Given the description of an element on the screen output the (x, y) to click on. 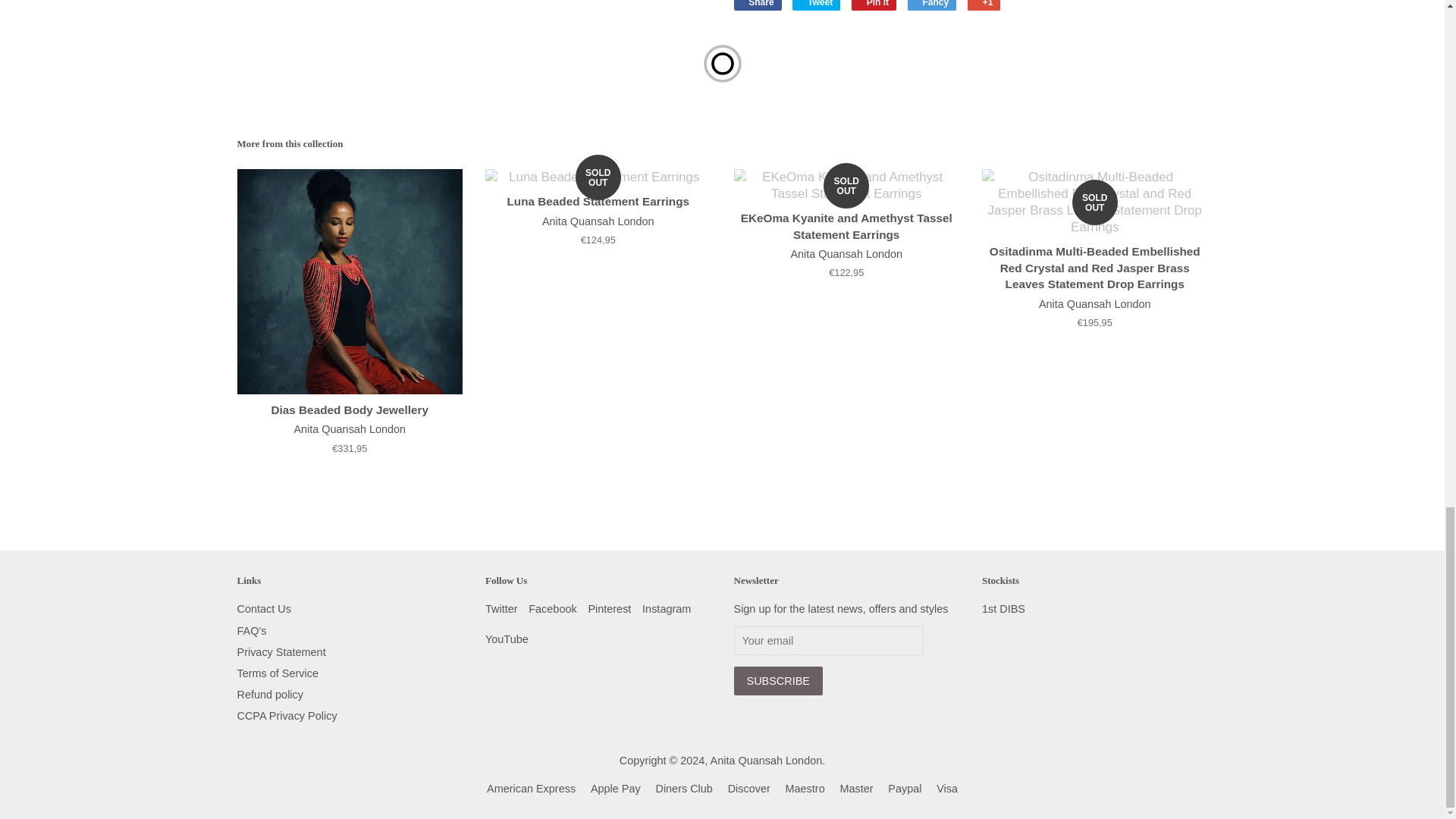
Anita Quansah London on Facebook (552, 608)
Anita Quansah London on Twitter (501, 608)
Anita Quansah London on YouTube (506, 639)
Share on Facebook (757, 5)
Anita Quansah London on Pinterest (609, 608)
Pin on Pinterest (873, 5)
Anita Quansah London on Instagram (666, 608)
Tweet on Twitter (816, 5)
Subscribe (777, 681)
Add to Fancy (931, 5)
